Given the description of an element on the screen output the (x, y) to click on. 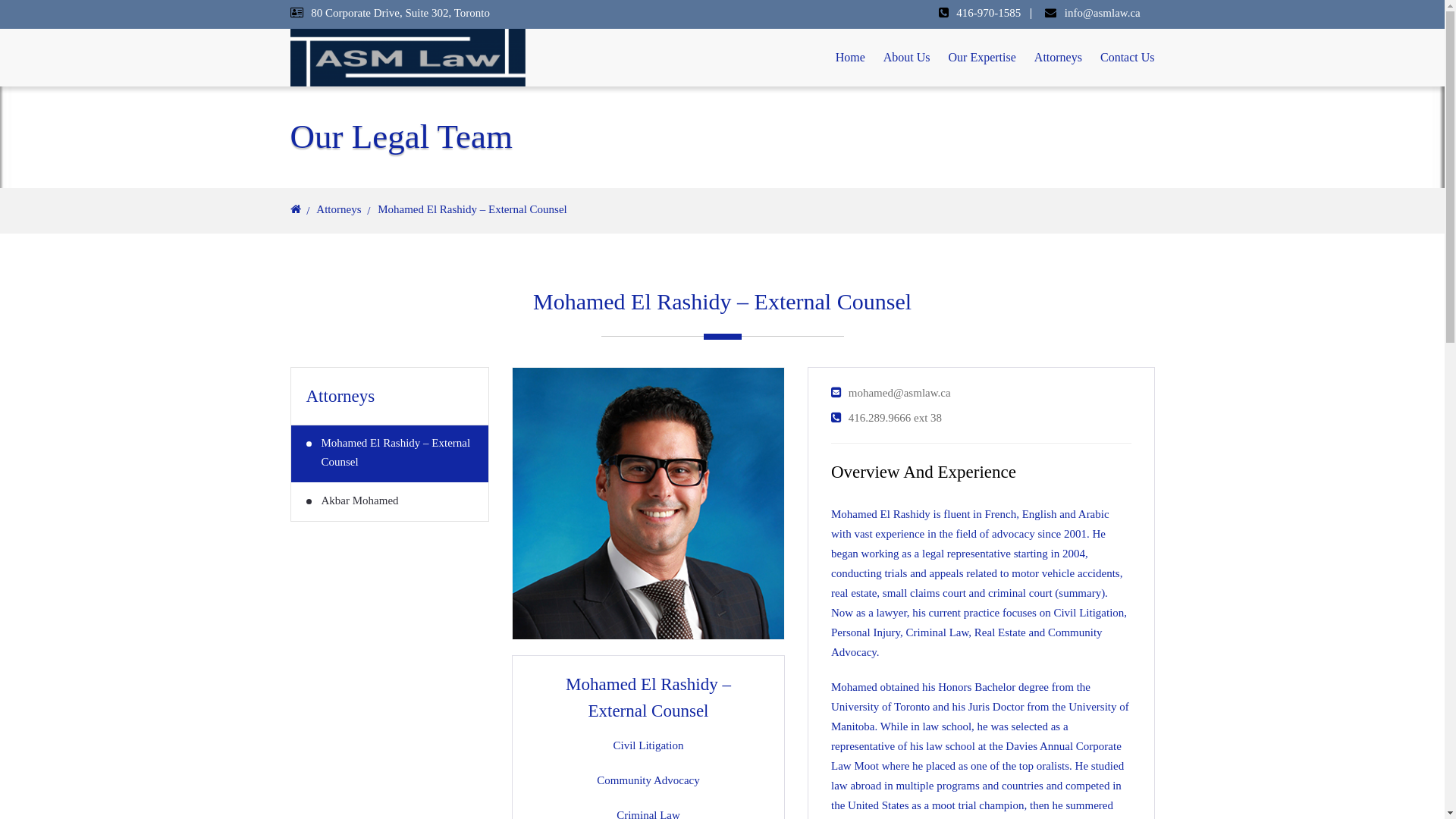
Contact Us Element type: text (1127, 56)
Attorneys Element type: text (1058, 56)
Attorneys Element type: text (338, 209)
Our Expertise Element type: text (982, 56)
Home Element type: text (850, 56)
About Us Element type: text (906, 56)
416.289.9666 ext 38 Element type: text (894, 417)
Akbar Mohamed Element type: text (390, 501)
mohamed@asmlaw.ca Element type: text (899, 392)
